Given the description of an element on the screen output the (x, y) to click on. 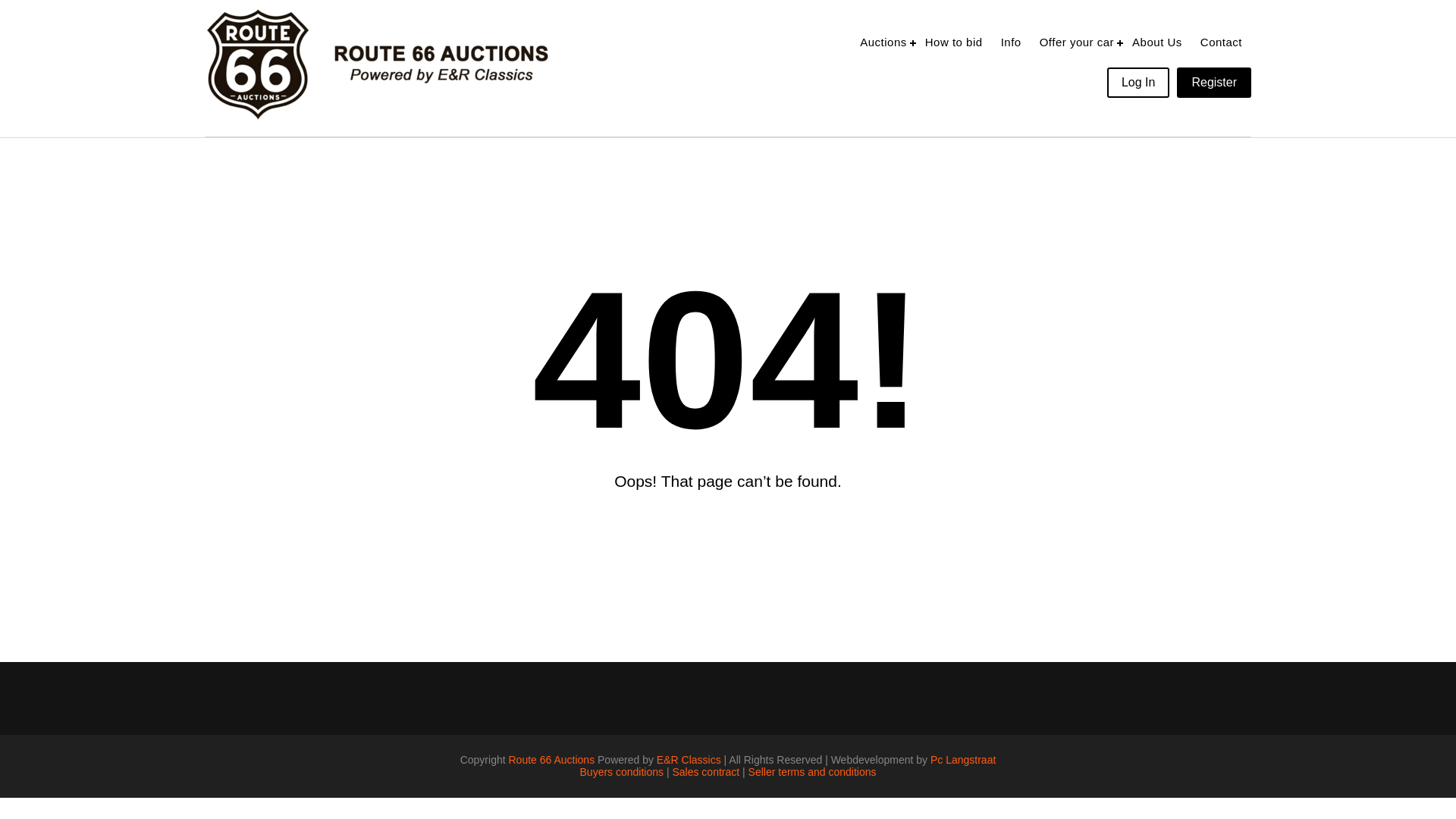
Seller terms and conditions (812, 771)
Log In (1137, 81)
Register (1213, 81)
Contact (1220, 41)
About Us (1156, 41)
Info (1010, 41)
How to bid (953, 41)
Route 66 Auctions (551, 759)
Sales contract (705, 771)
Pc Langstraat (962, 759)
Auctions (882, 41)
Buyers conditions (621, 771)
Offer your car (1076, 41)
